Given the description of an element on the screen output the (x, y) to click on. 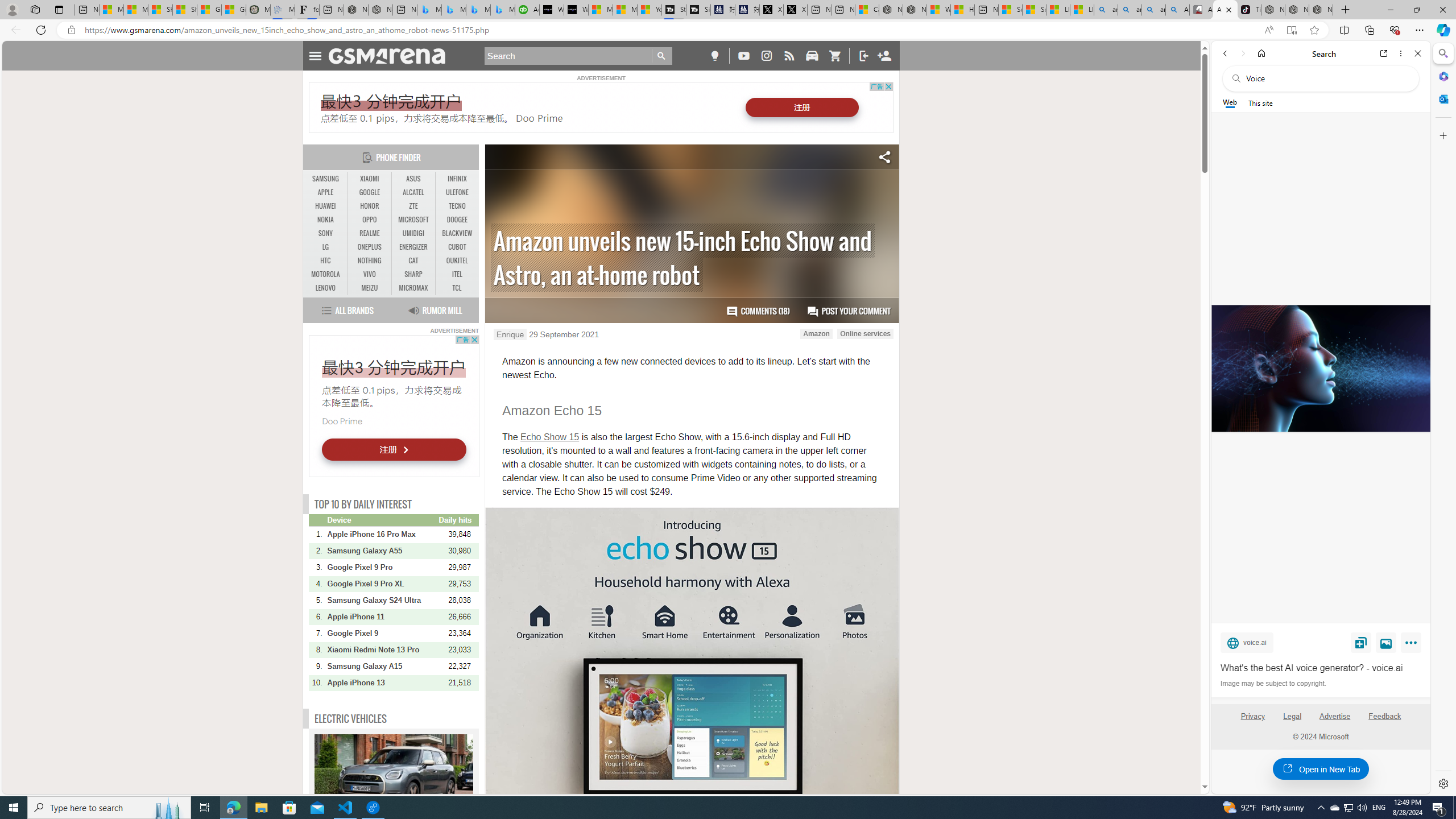
MICROMAX (413, 287)
Privacy (1252, 720)
Manatee Mortality Statistics | FWC (258, 9)
LENOVO (325, 287)
More (1413, 644)
Microsoft 365 (1442, 76)
Apple iPhone 11 (381, 616)
Customize (1442, 135)
AutomationID: anchor (391, 55)
TECNO (457, 205)
Advertise (1335, 715)
DOOGEE (457, 219)
